Given the description of an element on the screen output the (x, y) to click on. 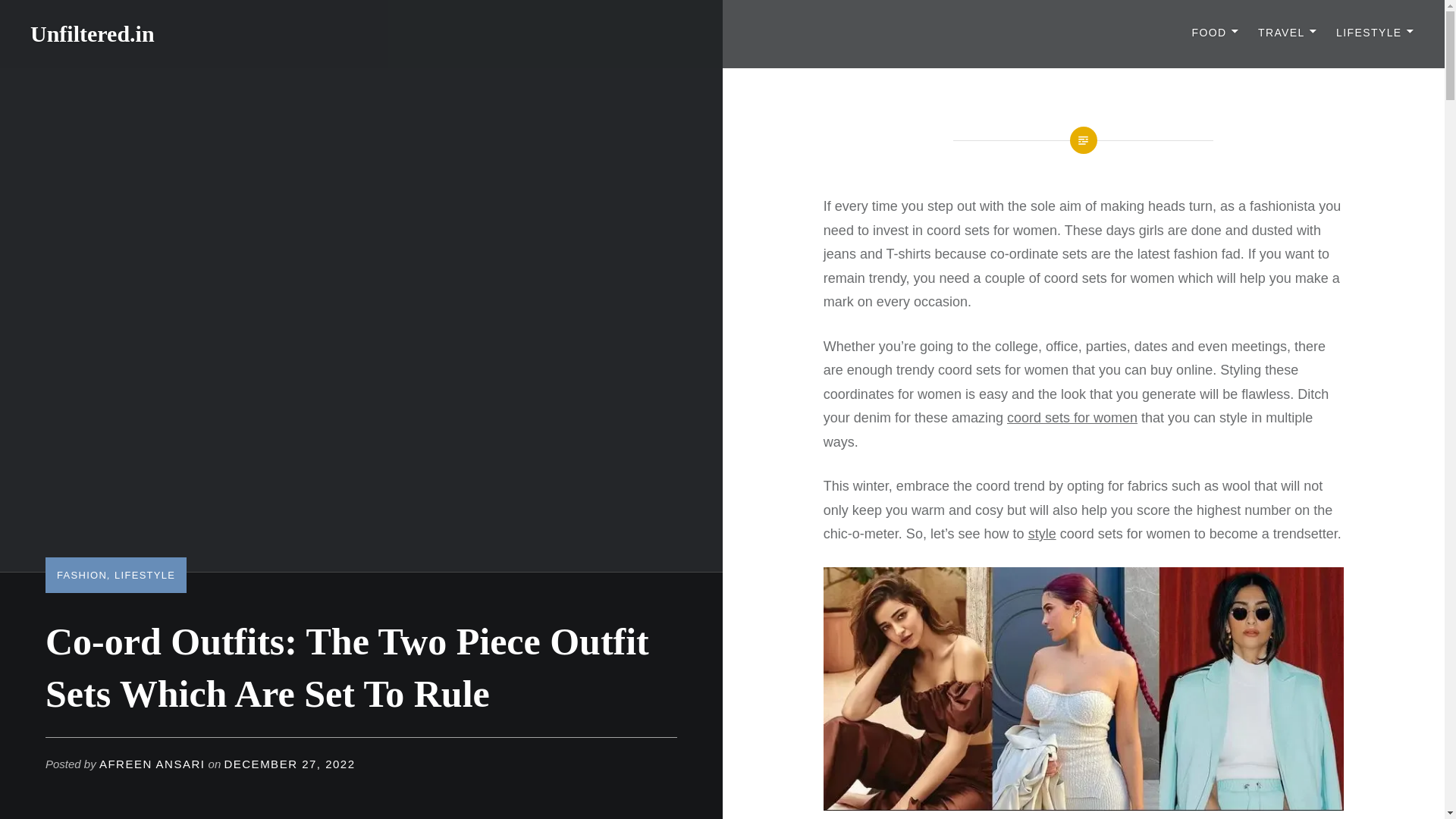
Coord sets for women (1083, 688)
DECEMBER 27, 2022 (289, 763)
coord sets for women (1072, 417)
TRAVEL (1287, 32)
LIFESTYLE (1374, 32)
FOOD (1215, 32)
AFREEN ANSARI (152, 763)
LIFESTYLE (144, 574)
FASHION (81, 574)
style (1042, 533)
